Given the description of an element on the screen output the (x, y) to click on. 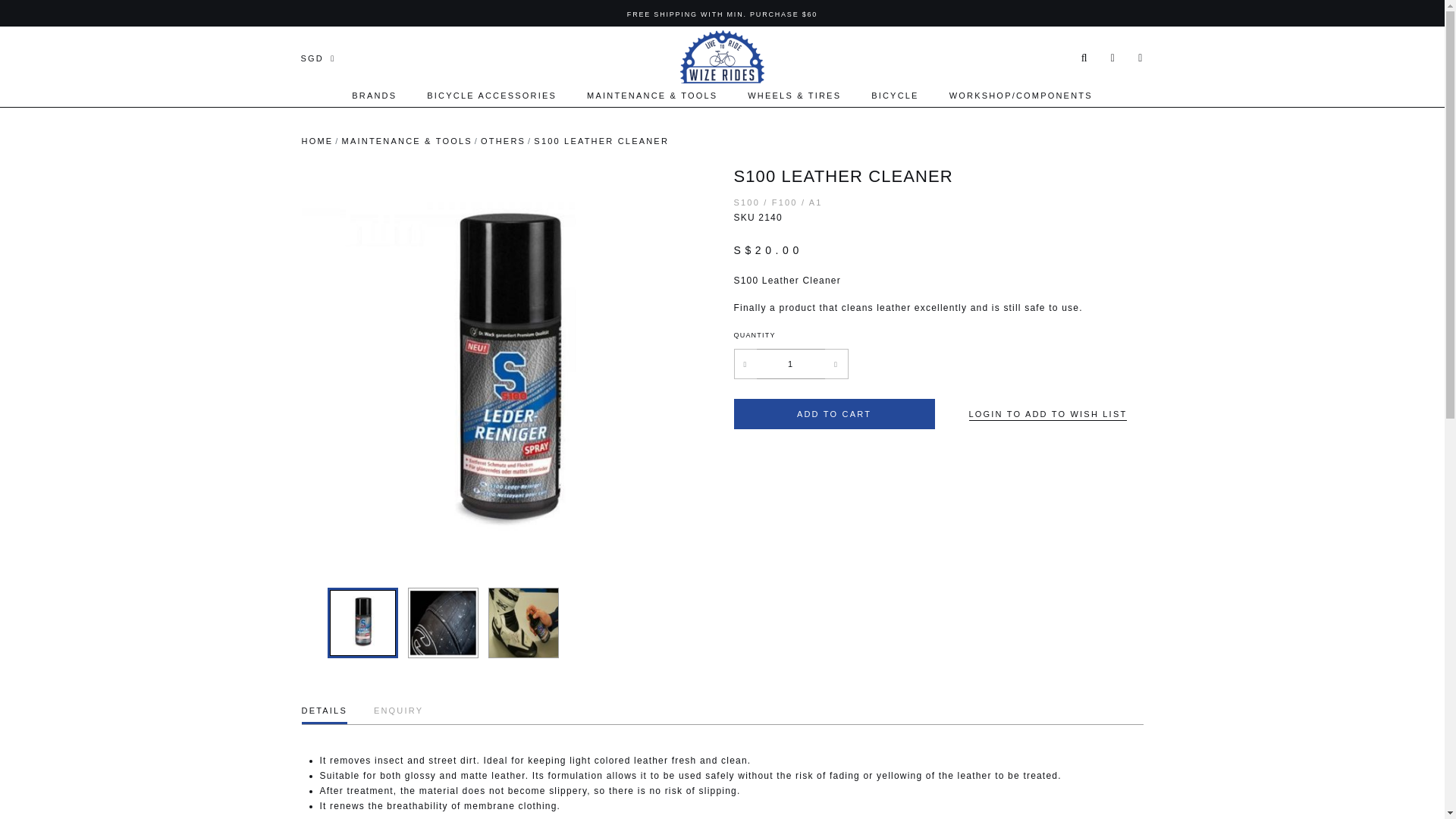
Add to cart (833, 413)
1 (791, 363)
